Given the description of an element on the screen output the (x, y) to click on. 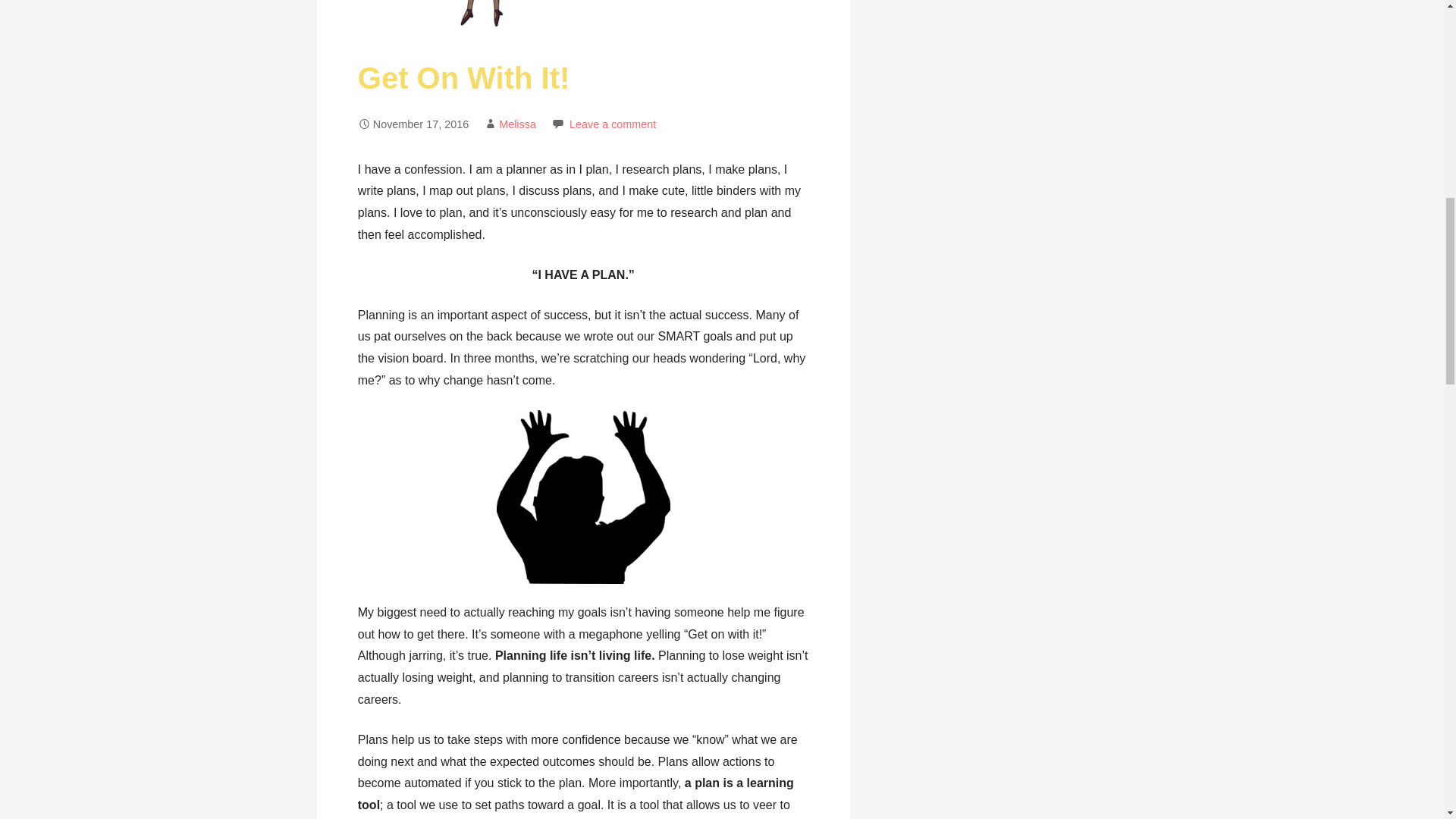
Leave a comment (612, 123)
Posts by Melissa (517, 123)
Melissa (517, 123)
